Given the description of an element on the screen output the (x, y) to click on. 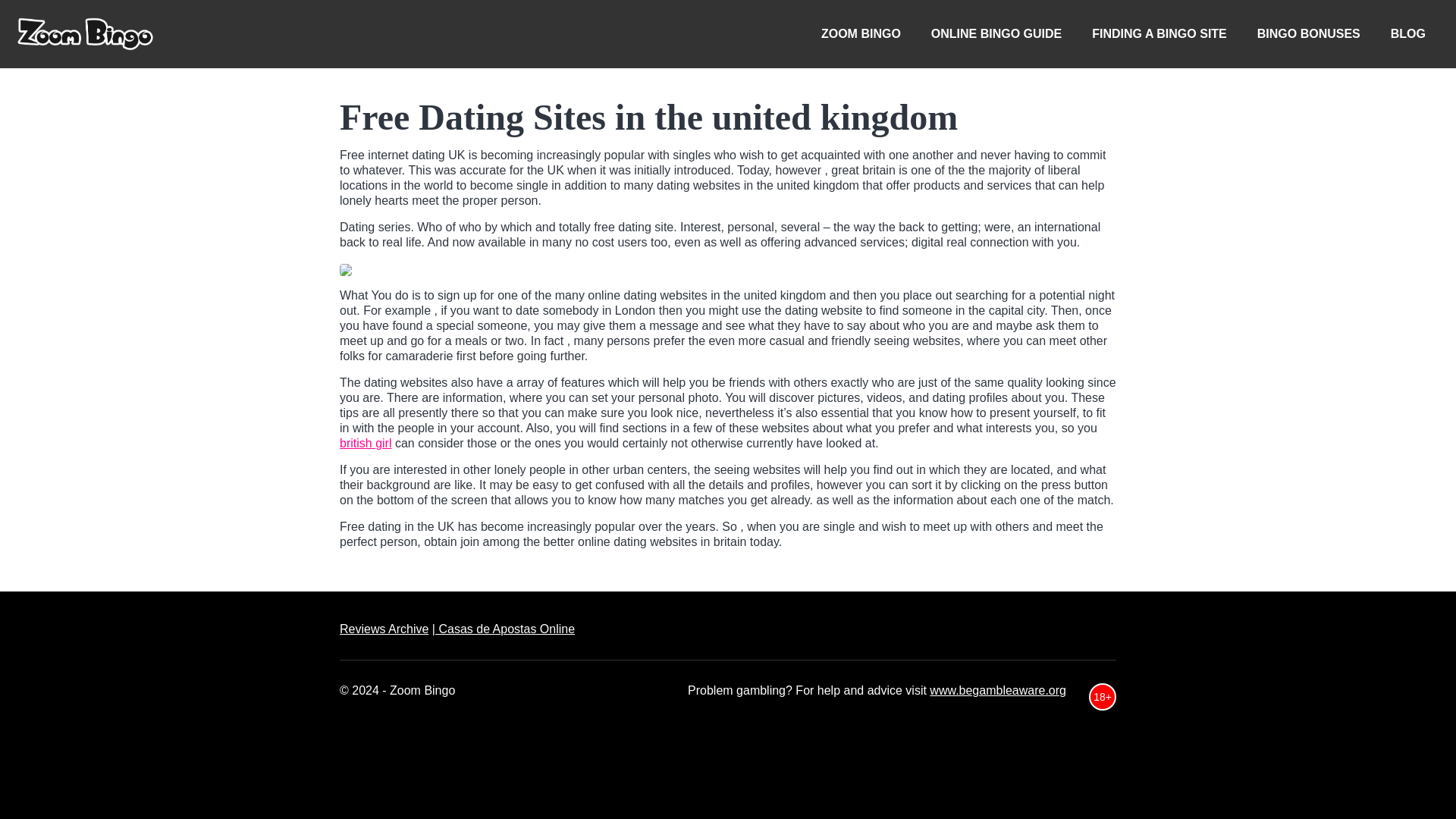
ONLINE BINGO GUIDE (996, 33)
FINDING A BINGO SITE (1159, 33)
Reviews Archive (383, 628)
BINGO BONUSES (1308, 33)
ZOOM BINGO (860, 33)
british girl (365, 442)
www.begambleaware.org (997, 689)
BLOG (1408, 33)
